Given the description of an element on the screen output the (x, y) to click on. 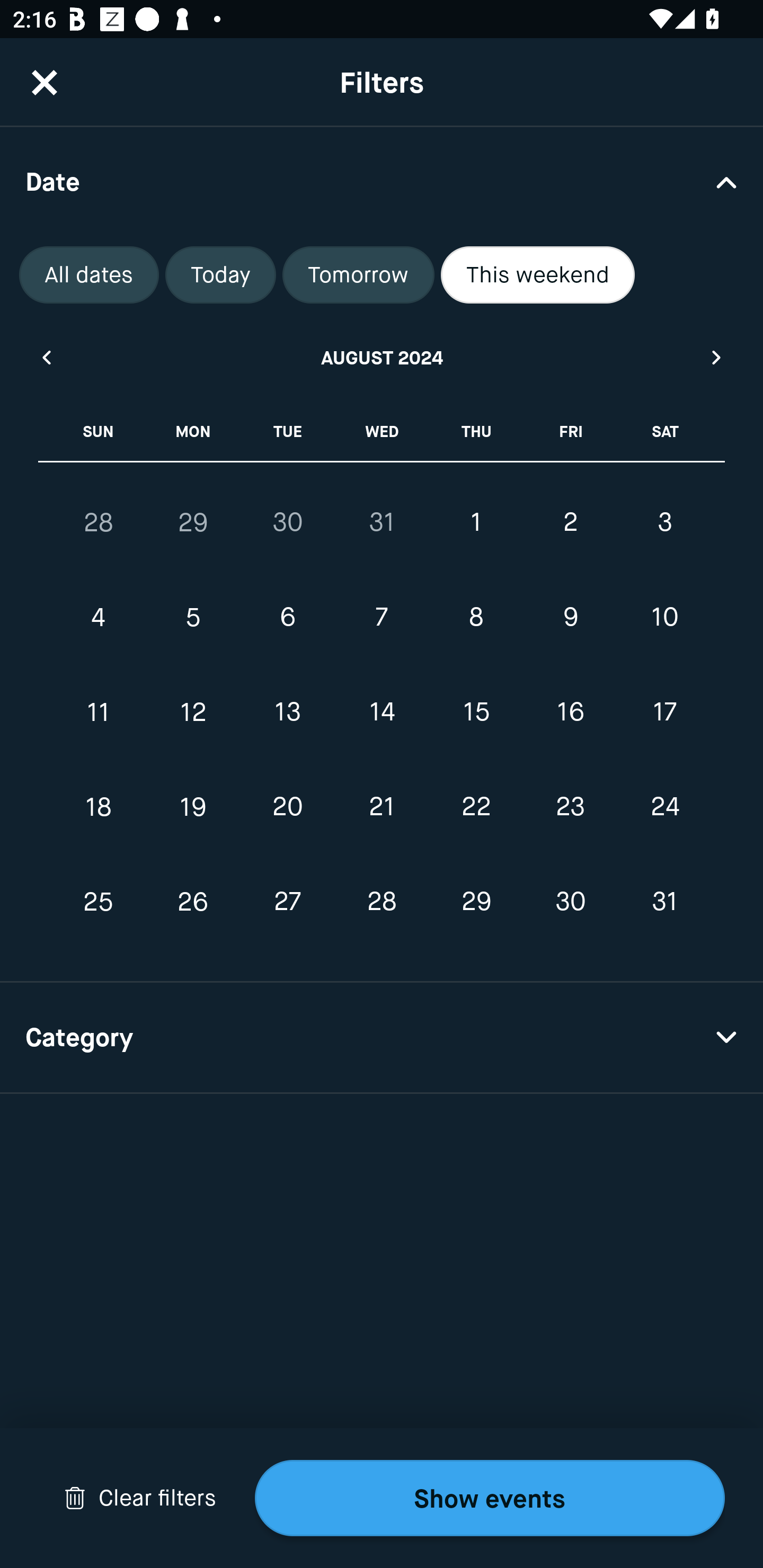
CloseButton (44, 82)
Date Drop Down Arrow (381, 181)
All dates (88, 274)
Today (220, 274)
Tomorrow (358, 274)
This weekend (537, 274)
Previous (45, 357)
Next (717, 357)
28 (98, 522)
29 (192, 522)
30 (287, 522)
31 (381, 522)
1 (475, 522)
2 (570, 522)
3 (664, 522)
4 (98, 617)
5 (192, 617)
6 (287, 617)
7 (381, 617)
8 (475, 617)
9 (570, 617)
10 (664, 617)
11 (98, 711)
12 (192, 711)
13 (287, 711)
14 (381, 711)
15 (475, 711)
16 (570, 711)
17 (664, 711)
18 (98, 806)
19 (192, 806)
20 (287, 806)
21 (381, 806)
22 (475, 806)
23 (570, 806)
24 (664, 806)
25 (98, 901)
26 (192, 901)
27 (287, 901)
28 (381, 901)
29 (475, 901)
30 (570, 901)
31 (664, 901)
Category Drop Down Arrow (381, 1038)
Drop Down Arrow Clear filters (139, 1497)
Show events (489, 1497)
